Given the description of an element on the screen output the (x, y) to click on. 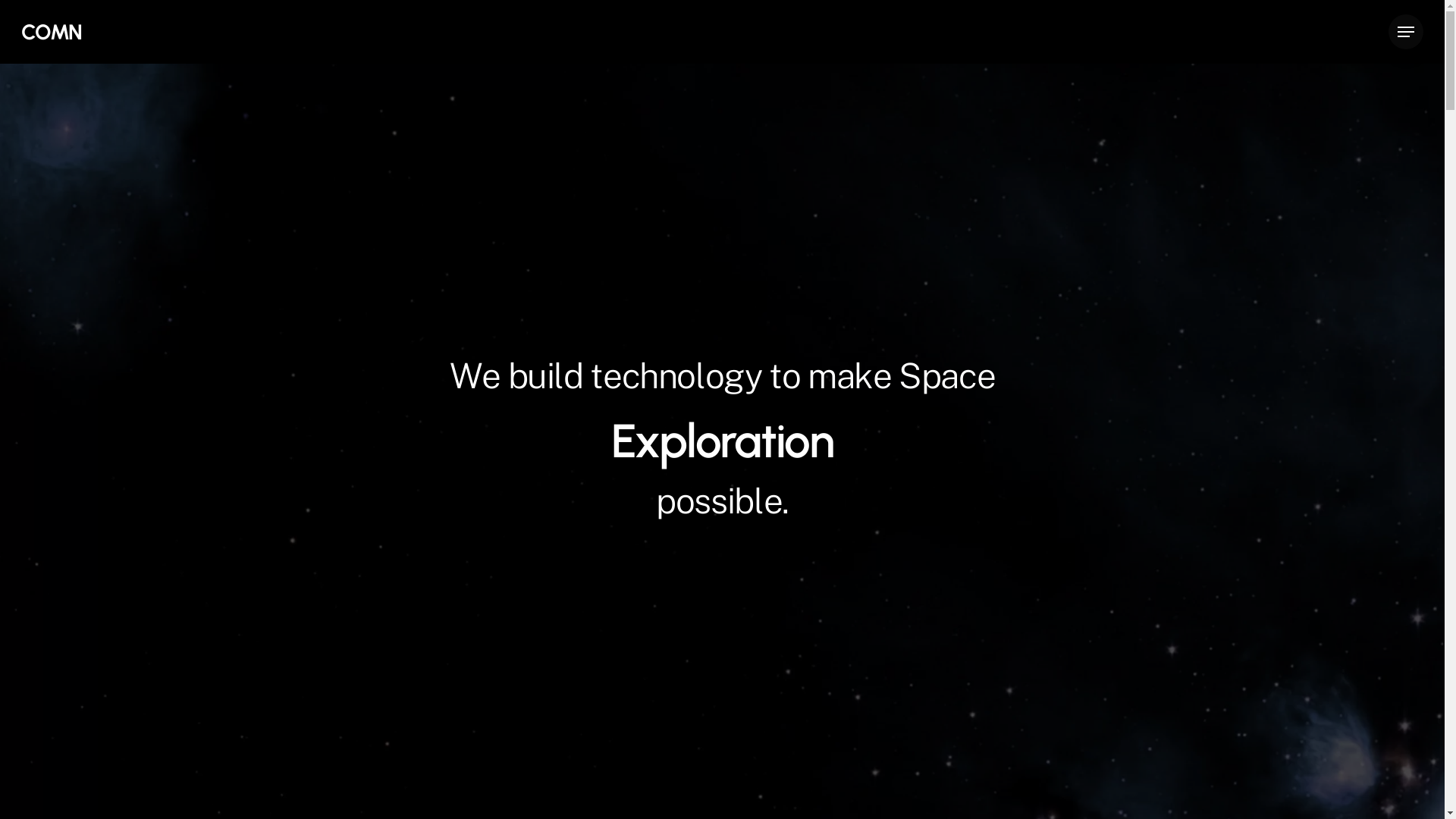
Menu Element type: text (1405, 32)
COMN Element type: text (51, 31)
